Given the description of an element on the screen output the (x, y) to click on. 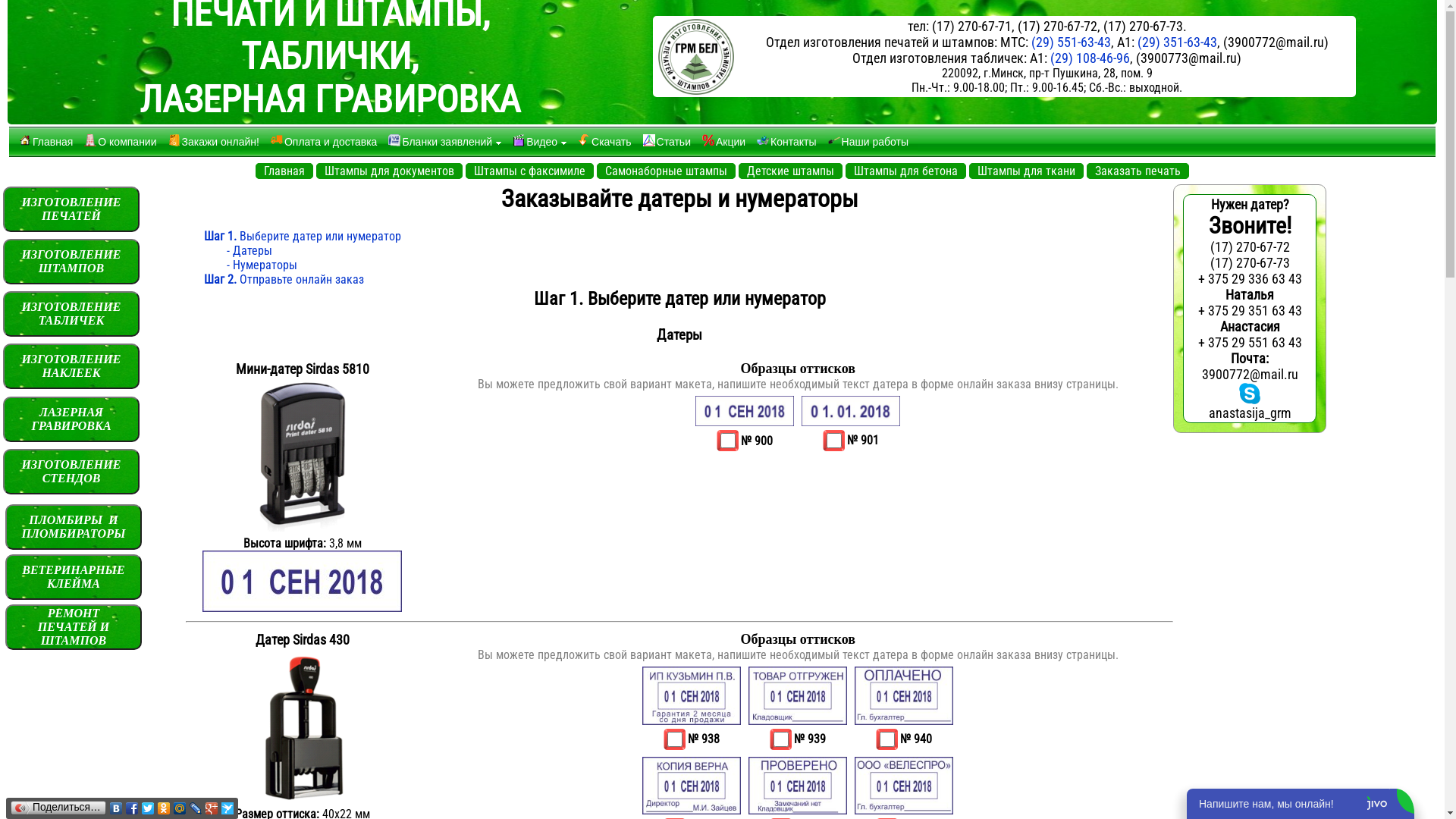
Twitter Element type: hover (148, 808)
(29) 351-63-43 Element type: text (1177, 42)
Surfingbird Element type: hover (227, 808)
Facebook Element type: hover (132, 808)
skype Element type: hover (1249, 393)
(29) 551-63-43 Element type: text (1070, 42)
Google Plus Element type: hover (211, 808)
LiveJournal Element type: hover (195, 808)
(29) 108-46-96 Element type: text (1089, 57)
